Given the description of an element on the screen output the (x, y) to click on. 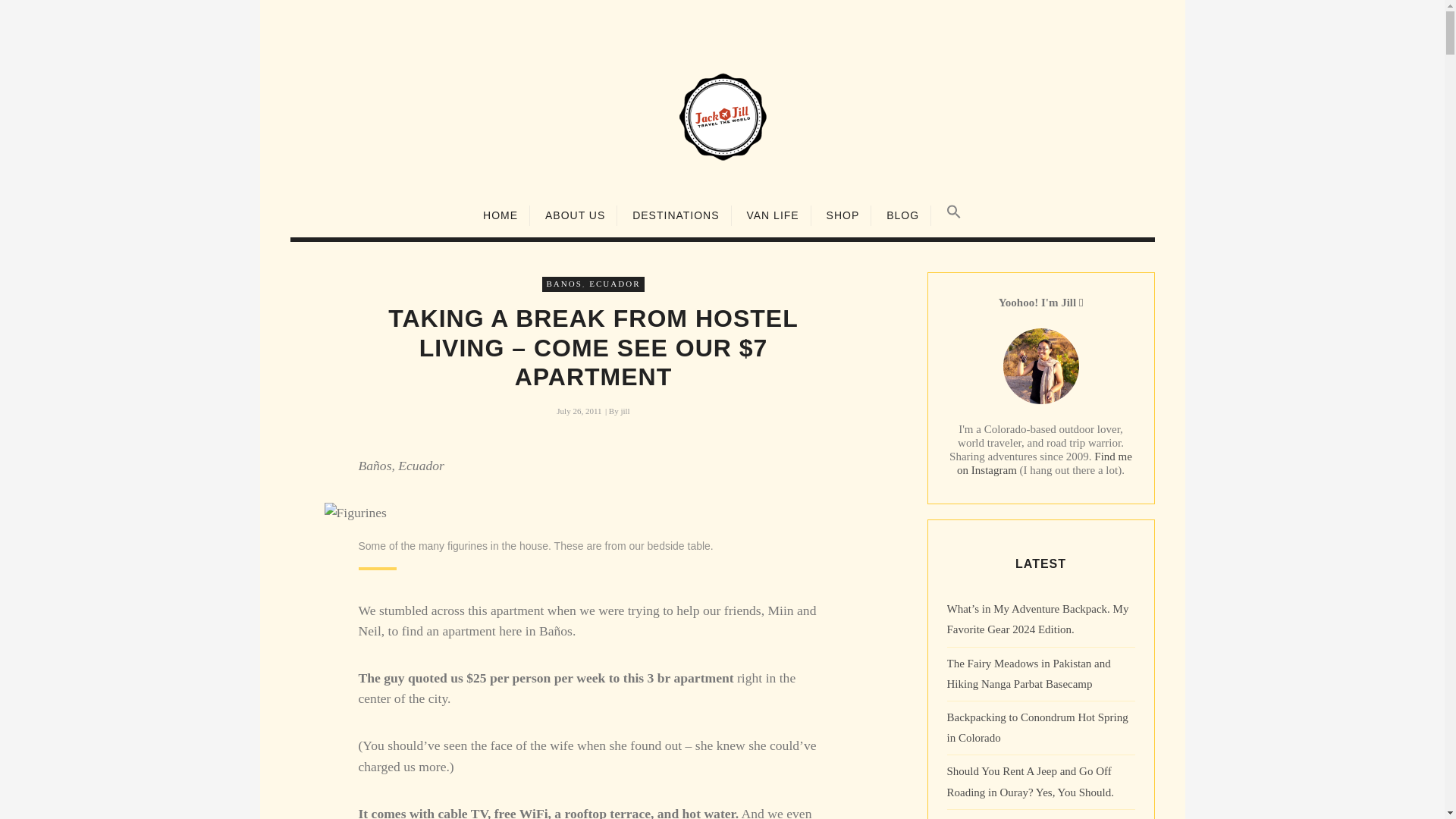
Jack and Jill Travel (722, 116)
Figurines (355, 512)
Posts by jill (624, 410)
